Given the description of an element on the screen output the (x, y) to click on. 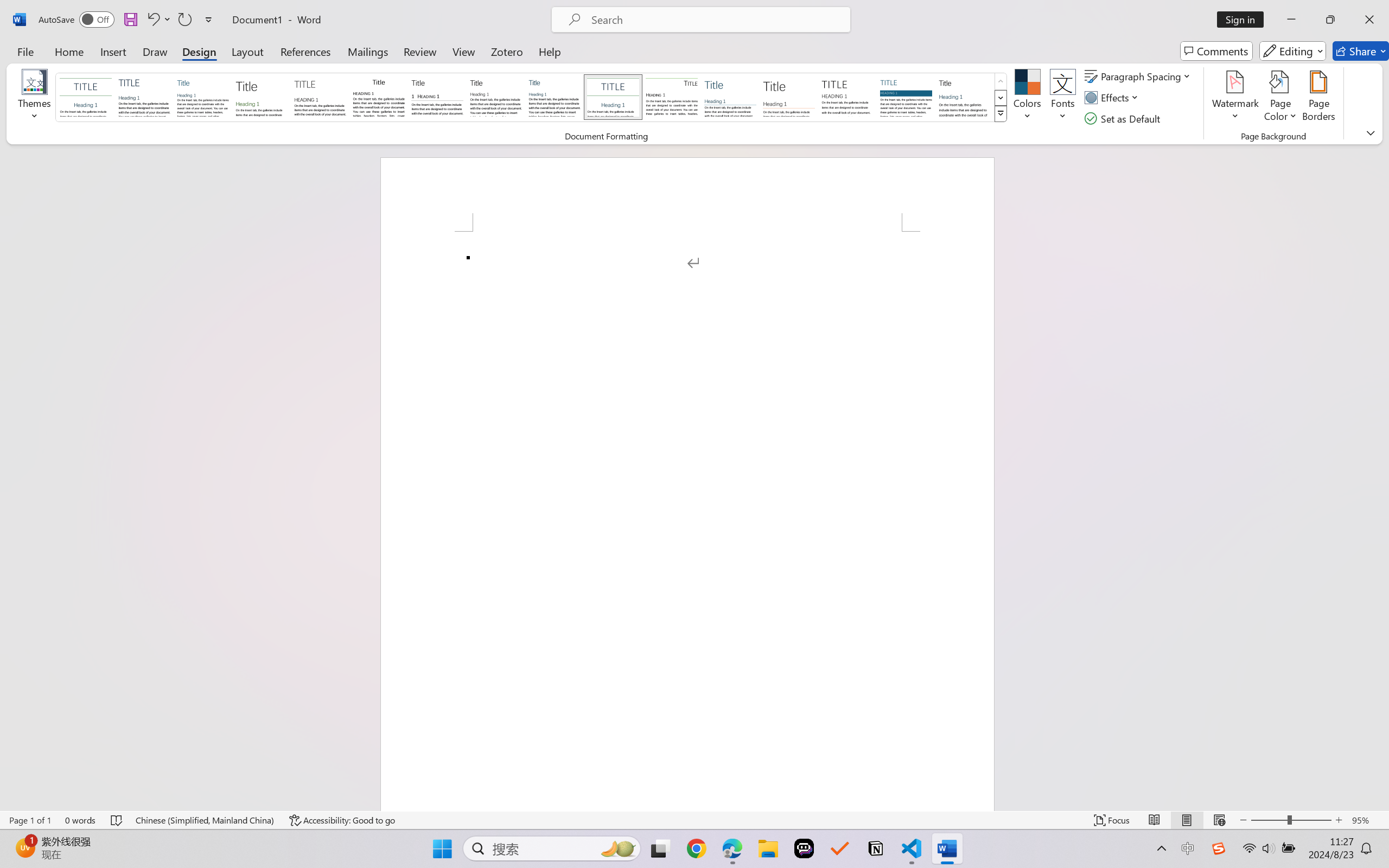
Basic (Simple) (202, 96)
Document (85, 96)
Watermark (1235, 97)
Fonts (1062, 97)
